Given the description of an element on the screen output the (x, y) to click on. 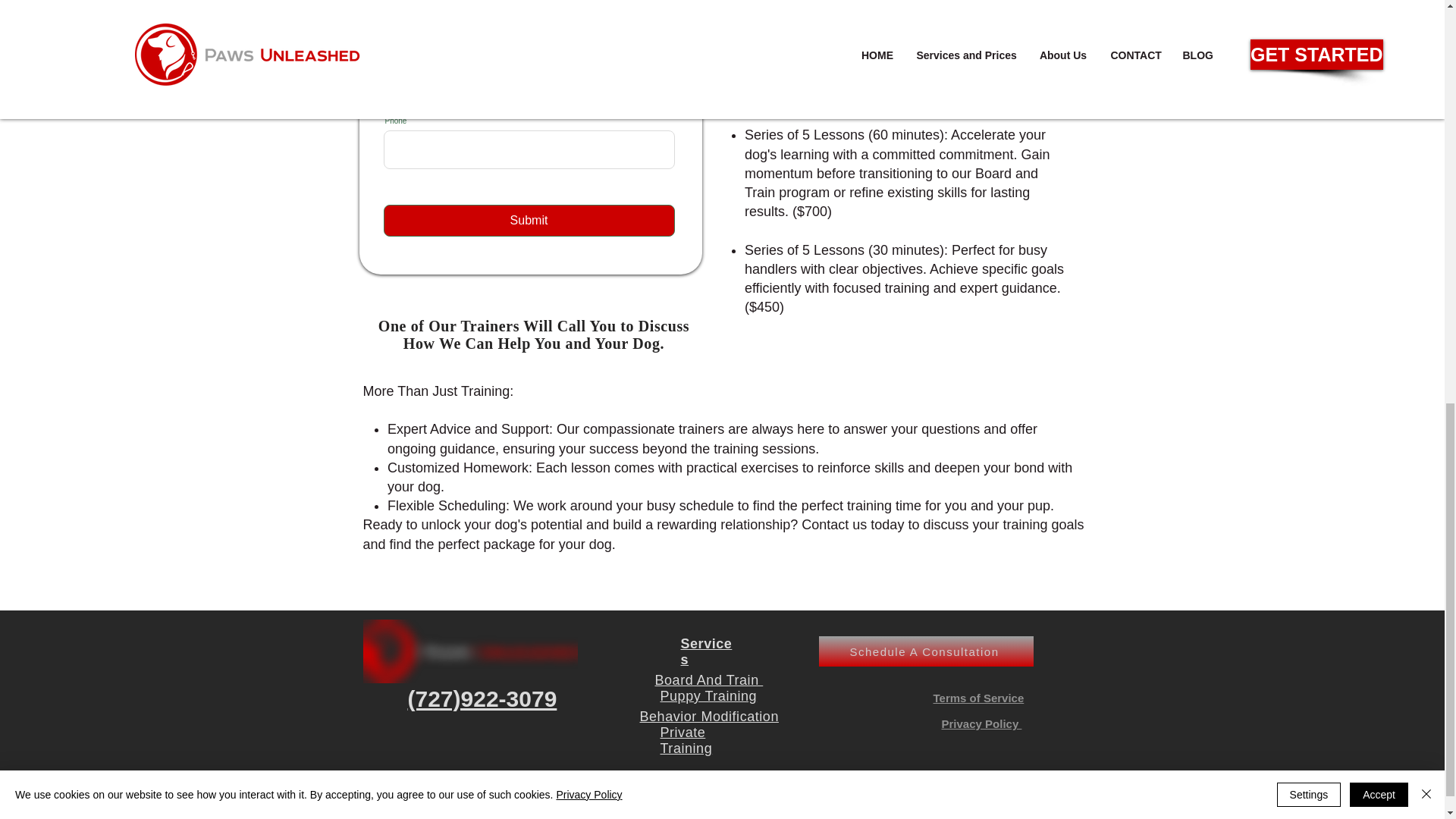
Puppy Training (708, 695)
Behavior Modification (709, 716)
Submit (529, 220)
Private Training (685, 739)
Board And Train  (708, 679)
Services (706, 651)
Privacy Policy  (982, 723)
Schedule A Consultation (925, 651)
Terms of Service (978, 697)
